Given the description of an element on the screen output the (x, y) to click on. 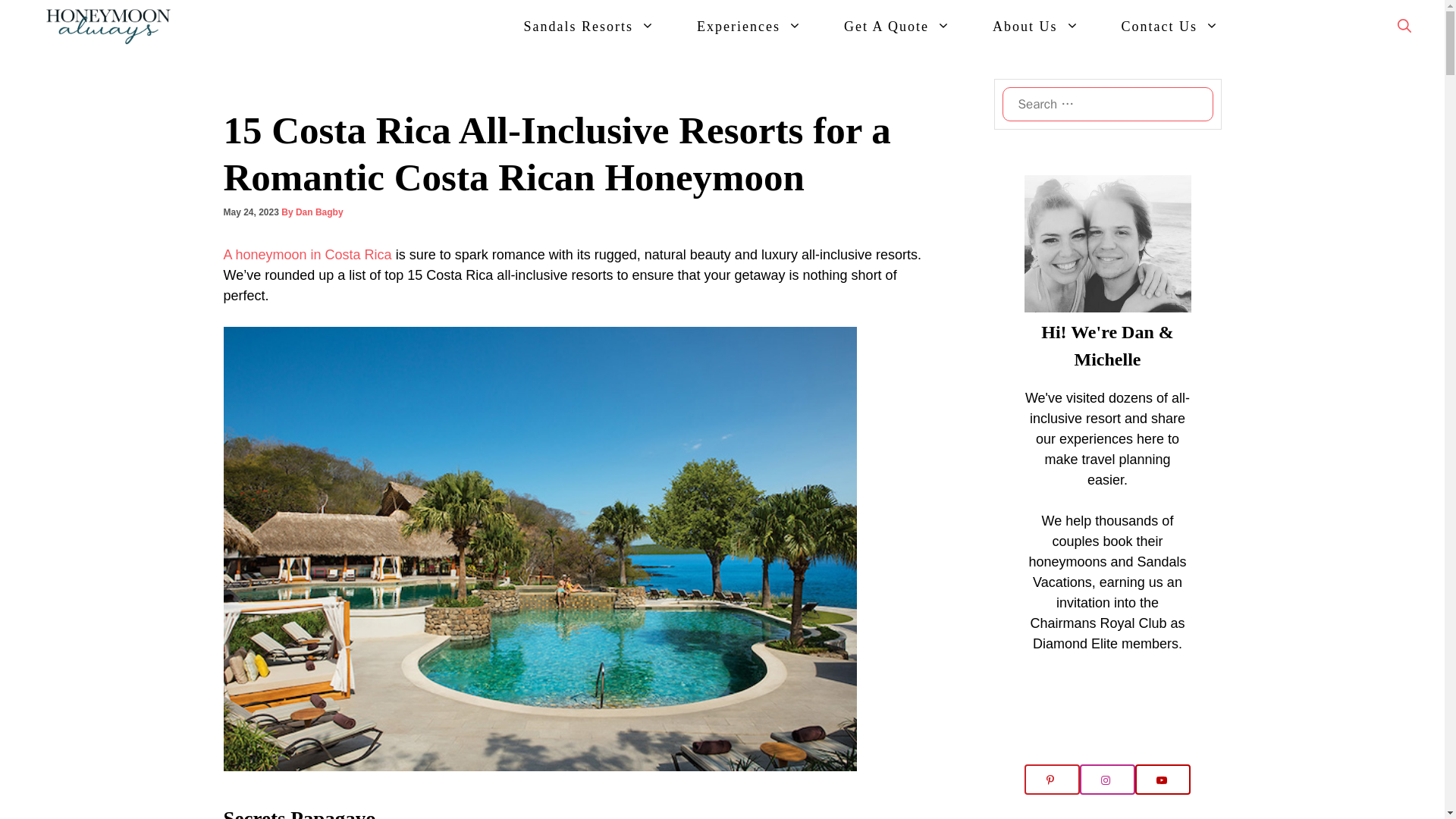
Get A Quote (896, 26)
Experiences (748, 26)
Honeymoon Always (108, 26)
Search for: (1107, 103)
Sandals Resorts (588, 26)
Honeymoon Always (112, 26)
About Us (1035, 26)
Follow on YouTube (1163, 779)
Follow on Instagram (1107, 779)
View all posts by Dan Bagby (319, 212)
Follow on Pinterest (1050, 779)
